Given the description of an element on the screen output the (x, y) to click on. 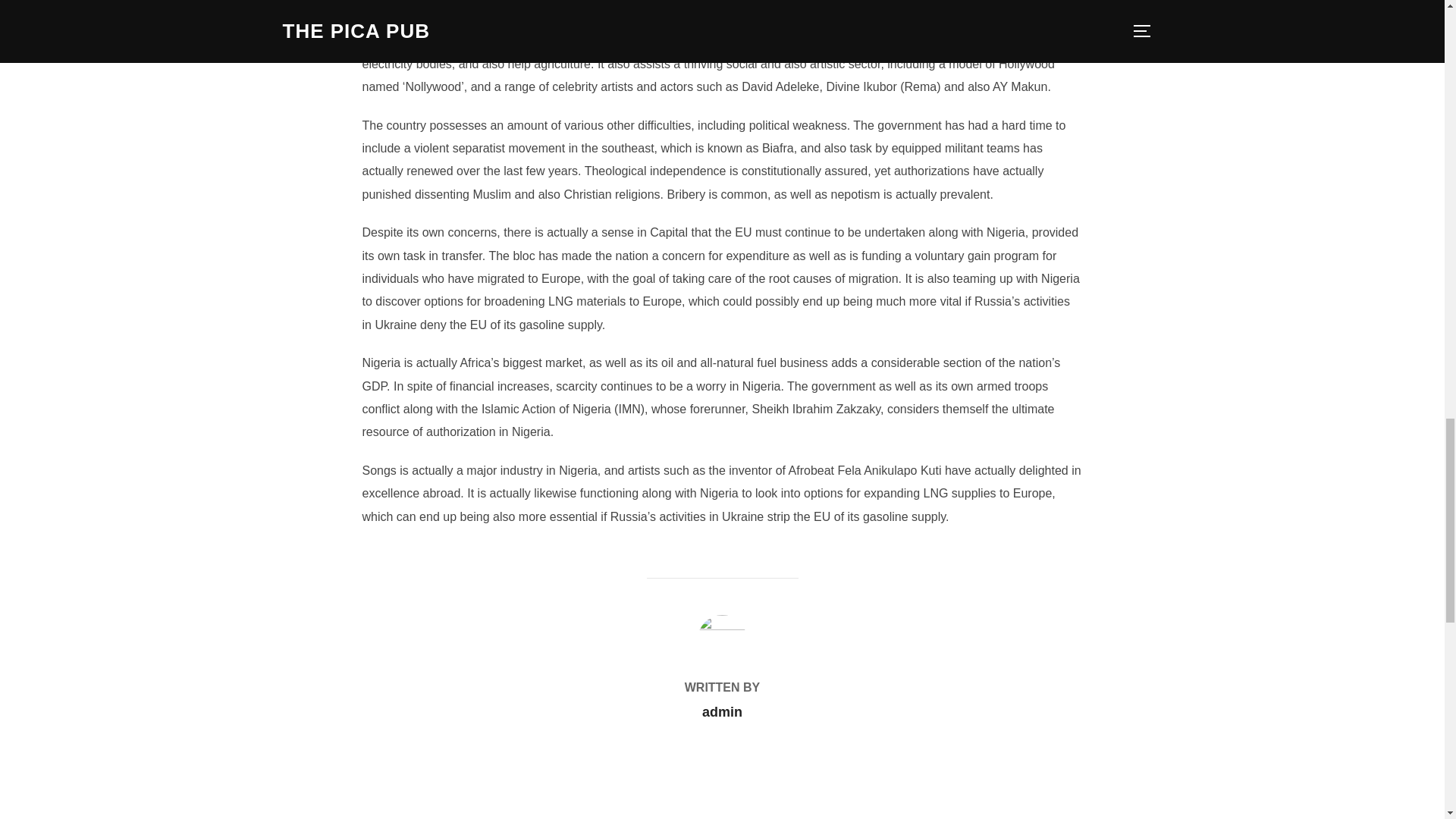
admin (721, 711)
Posts by admin (721, 711)
